Given the description of an element on the screen output the (x, y) to click on. 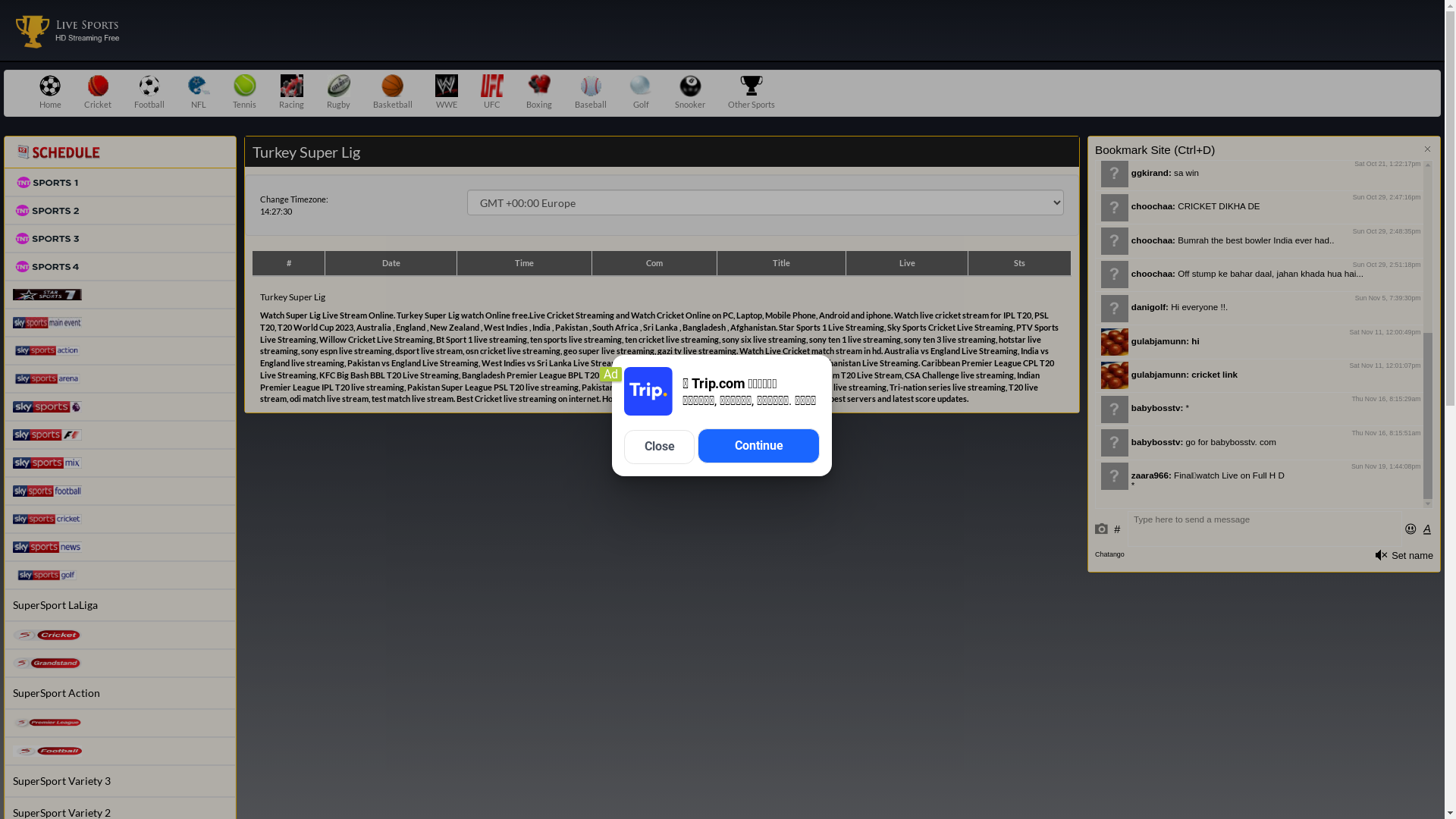
Snooker Element type: text (689, 93)
Tennis Element type: text (244, 93)
SuperSport Variety 3 Element type: text (119, 781)
SuperSport Action Element type: text (119, 693)
Racing Element type: text (291, 93)
Boxing Element type: text (538, 93)
Turkey Super Lig Element type: hover (68, 29)
Rugby Element type: text (338, 93)
Cricket Element type: text (97, 93)
Turkey Super Lig Element type: hover (68, 30)
UFC Element type: text (491, 93)
Baseball Element type: text (590, 93)
Football Element type: text (148, 93)
WWE Element type: text (446, 93)
Golf Element type: text (640, 93)
NFL Element type: text (198, 93)
Home Element type: text (49, 93)
Other Sports Element type: text (751, 93)
Basketball Element type: text (392, 93)
SuperSport LaLiga Element type: text (119, 605)
